Given the description of an element on the screen output the (x, y) to click on. 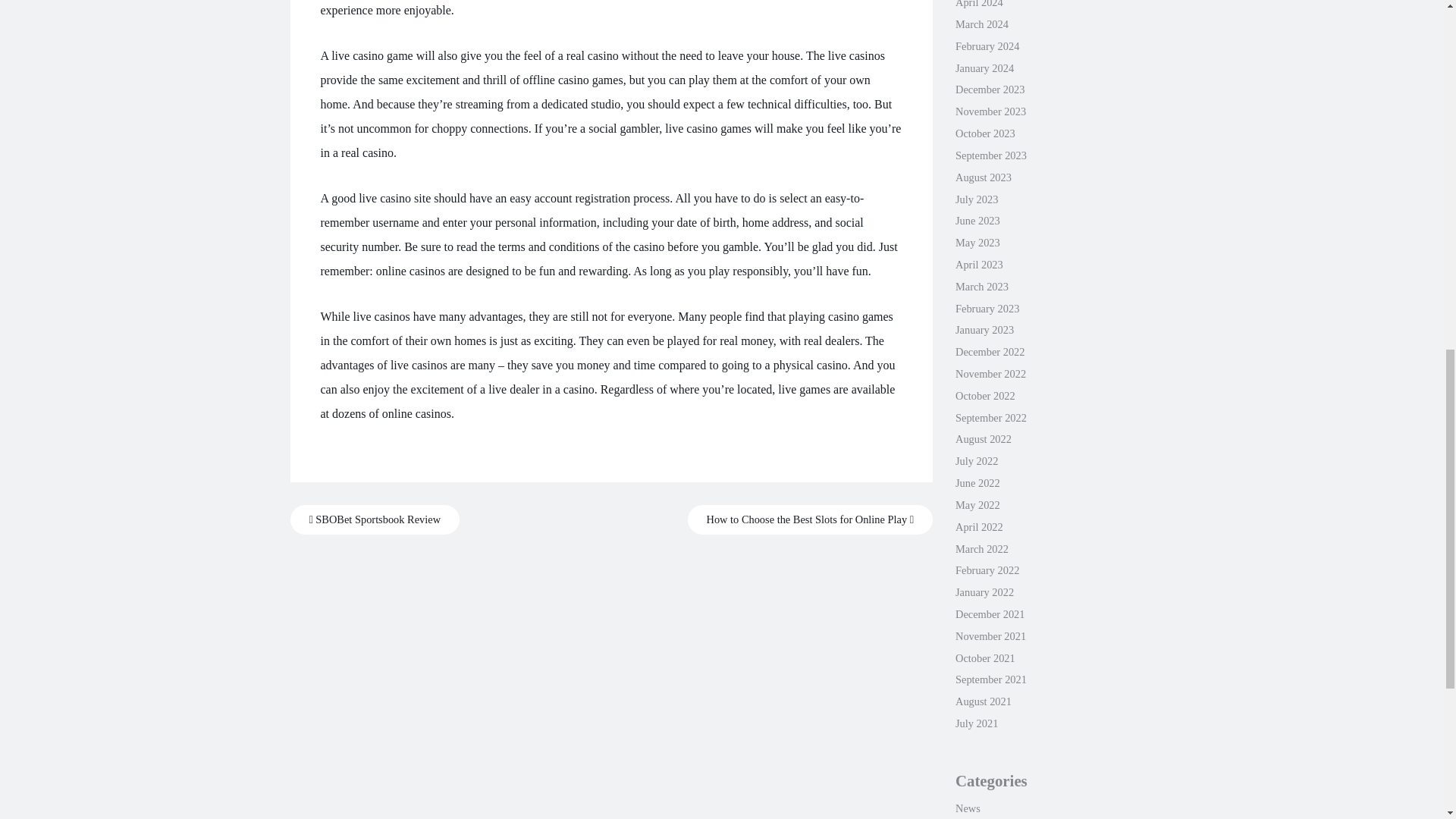
February 2023 (987, 308)
October 2023 (984, 133)
September 2023 (990, 155)
August 2022 (983, 439)
April 2023 (979, 264)
October 2022 (984, 395)
May 2023 (977, 242)
February 2024 (987, 46)
SBOBet Sportsbook Review (374, 519)
August 2023 (983, 177)
